Given the description of an element on the screen output the (x, y) to click on. 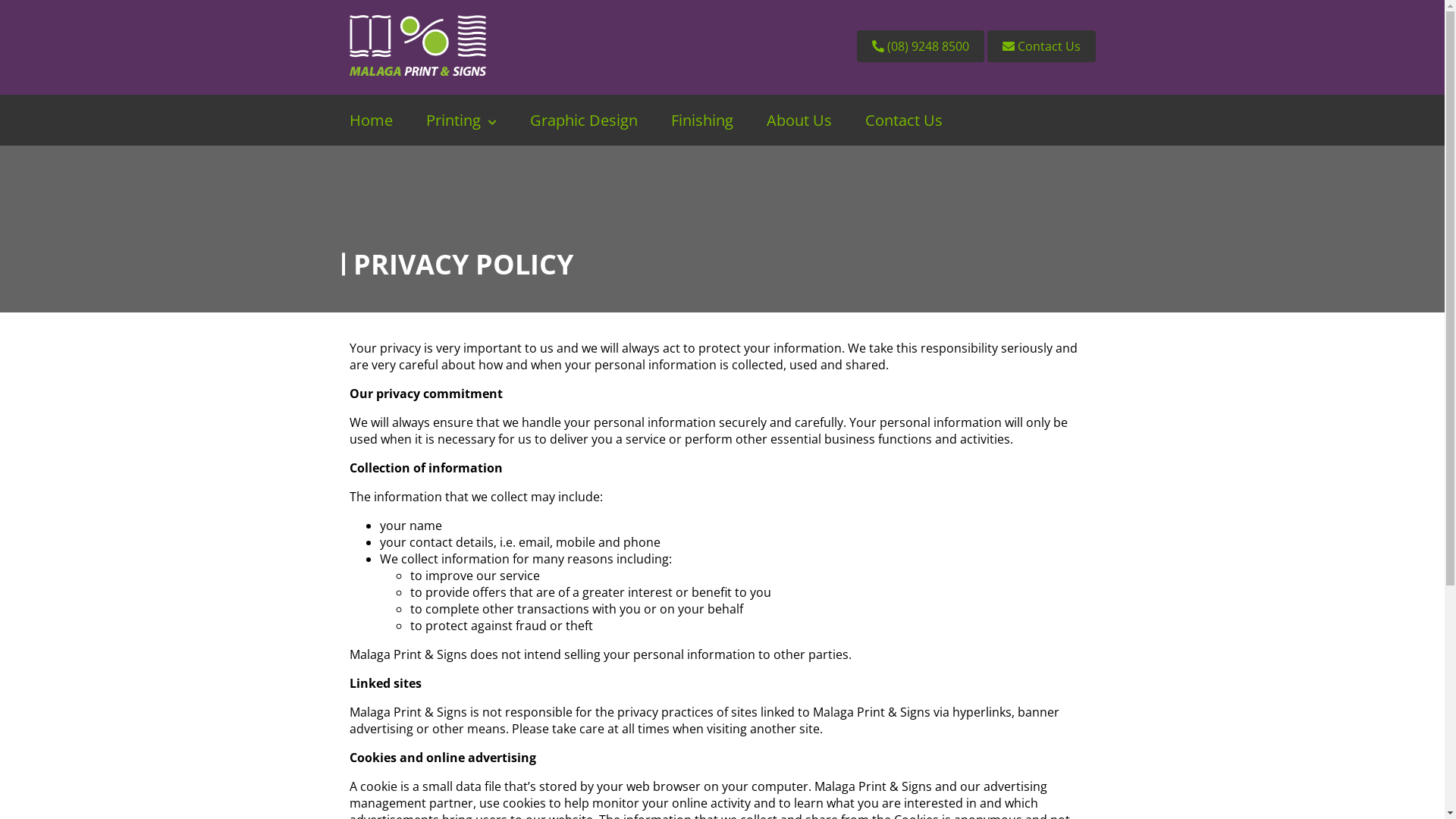
Printing Element type: text (461, 119)
Home Element type: text (370, 119)
Finishing Element type: text (701, 119)
Graphic Design Element type: text (583, 119)
Contact Us Element type: text (1041, 46)
Contact Us Element type: text (903, 119)
About Us Element type: text (798, 119)
(08) 9248 8500 Element type: text (920, 46)
